Given the description of an element on the screen output the (x, y) to click on. 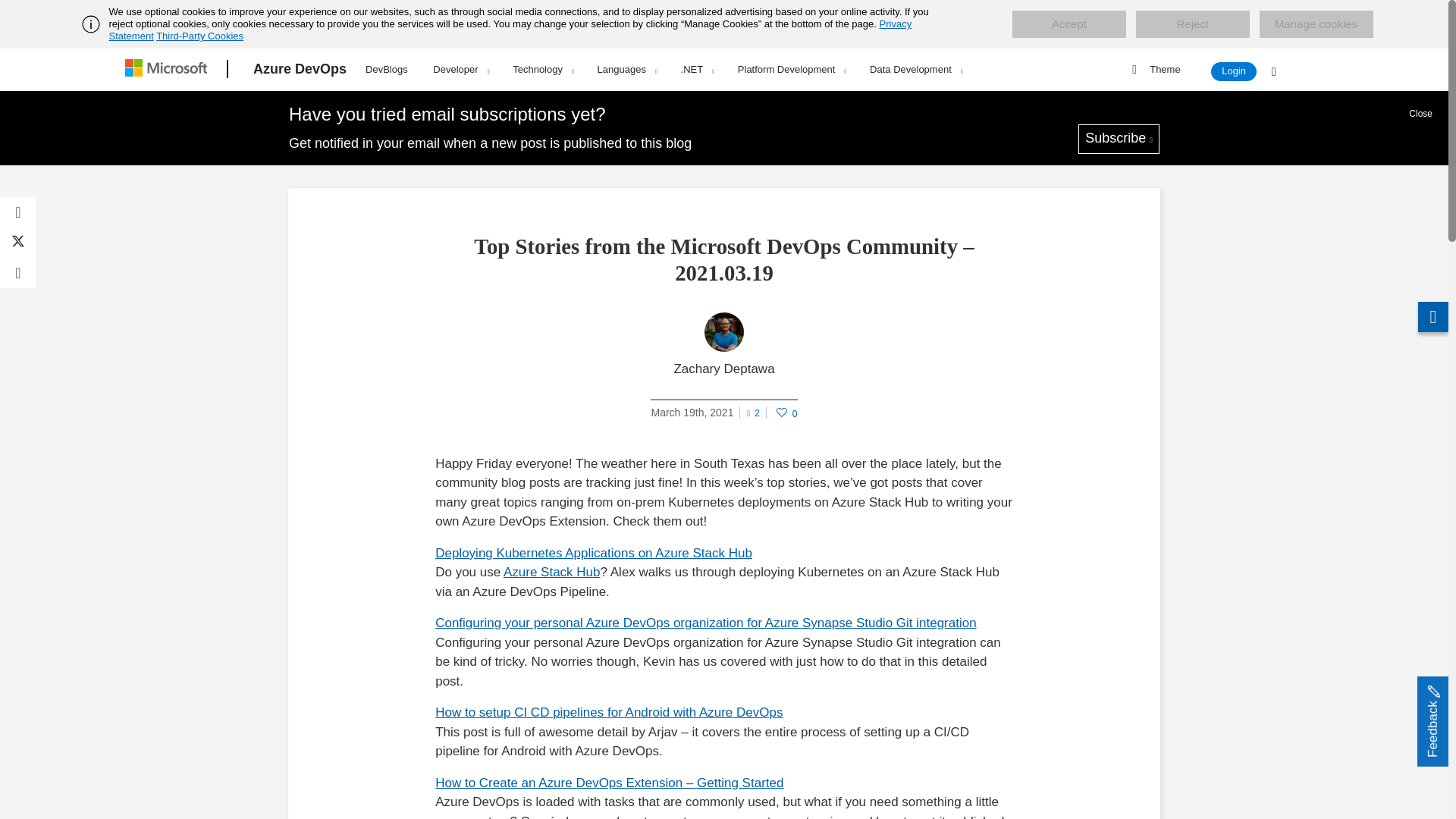
Technology (542, 69)
Manage cookies (1316, 23)
Languages (627, 69)
Privacy Statement (510, 29)
DevBlogs (386, 67)
Azure DevOps (299, 69)
Reject (1192, 23)
Third-Party Cookies (199, 35)
Accept (1068, 23)
Developer (460, 69)
